Given the description of an element on the screen output the (x, y) to click on. 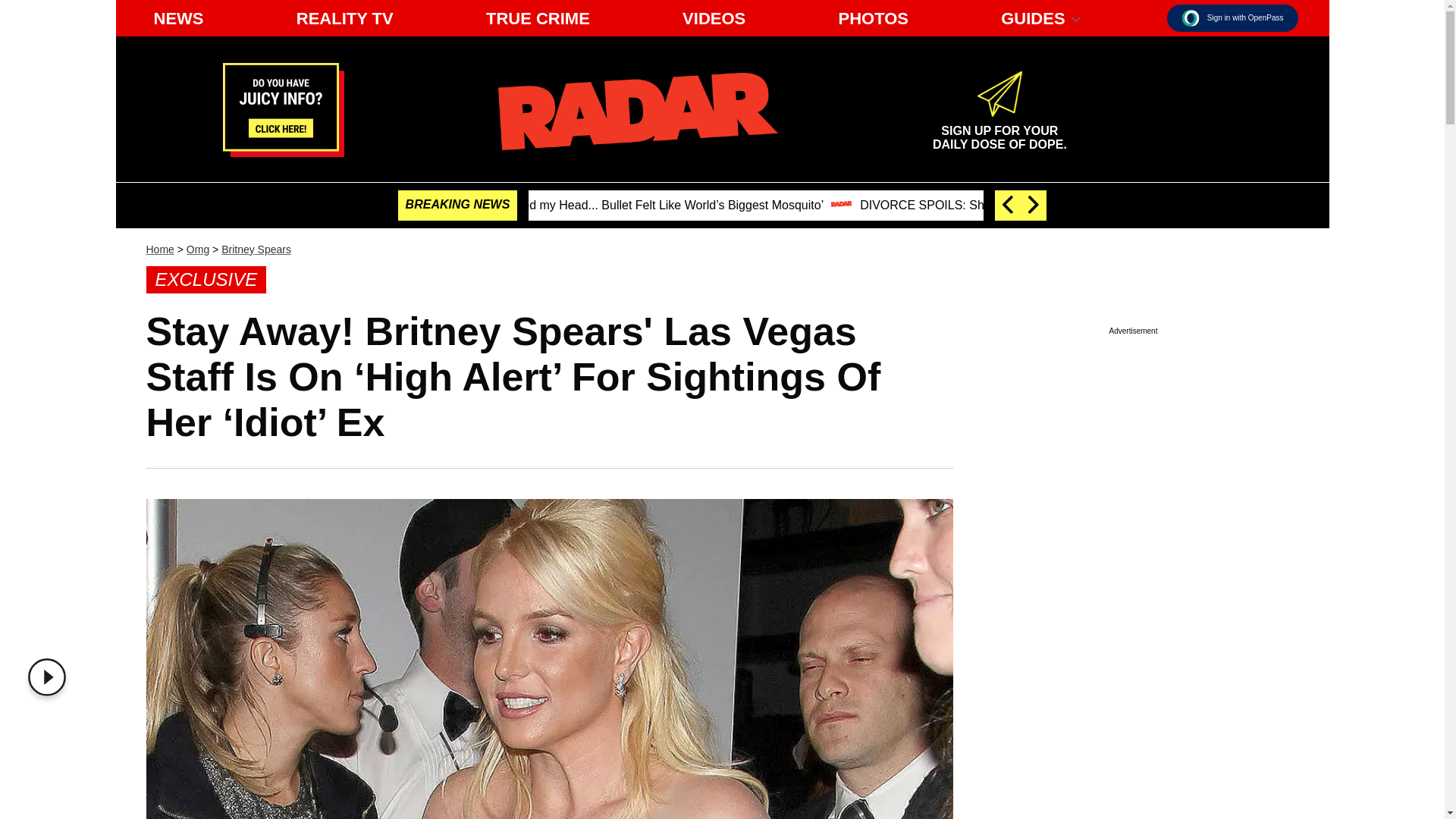
Email us your tip (282, 152)
Britney Spears (256, 249)
TRUE CRIME (537, 18)
Trinity Audio Player (999, 130)
Sign up for your daily dose of dope. (50, 677)
Sign in with OpenPass (999, 130)
NEWS (1232, 17)
PHOTOS (178, 18)
OpenPass Logo (872, 18)
Radar Online (1190, 17)
Omg (637, 110)
Home (197, 249)
REALITY TV (159, 249)
VIDEOS (344, 18)
